Given the description of an element on the screen output the (x, y) to click on. 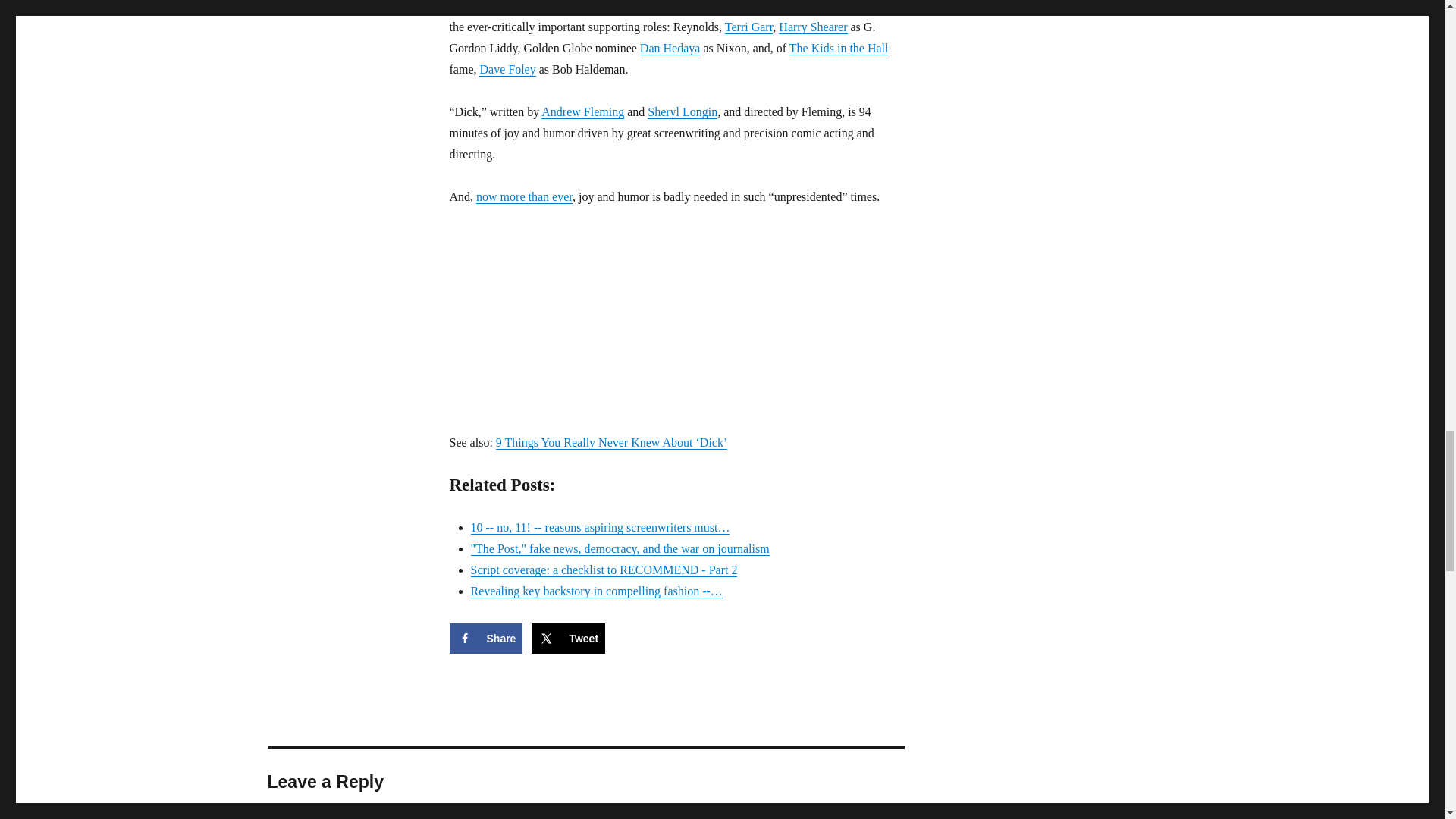
Sheryl Longin (682, 111)
YouTube: Nixon campaign commercial (524, 196)
Script coverage: a checklist to RECOMMEND - Part 2 (603, 569)
Share on X (568, 638)
Harry Shearer (812, 26)
now more than ever (524, 196)
Share (485, 638)
Andrew Fleming (582, 111)
The Kids in the Hall (838, 47)
"The Post," fake news, democracy, and the war on journalism (619, 548)
